Given the description of an element on the screen output the (x, y) to click on. 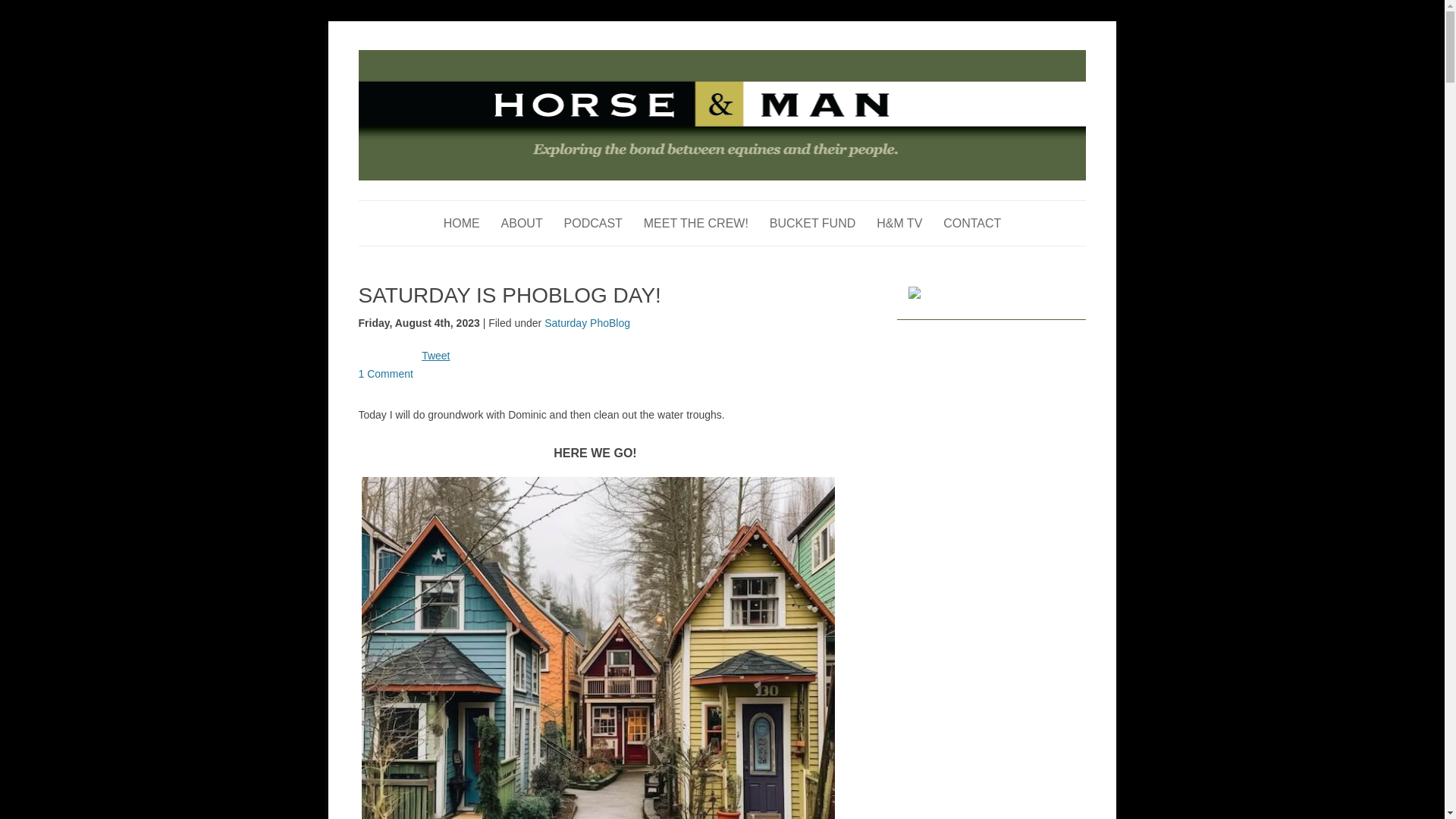
The Drop in the Bucket Fund Story (813, 222)
Horse and Man (428, 57)
Horse and Man (428, 57)
Meet the Horse and Man Crew (695, 222)
Skip to content (757, 204)
About Horse and Man (521, 222)
ABOUT (521, 222)
PODCAST (593, 222)
Skip to content (757, 204)
BUCKET FUND (813, 222)
